Given the description of an element on the screen output the (x, y) to click on. 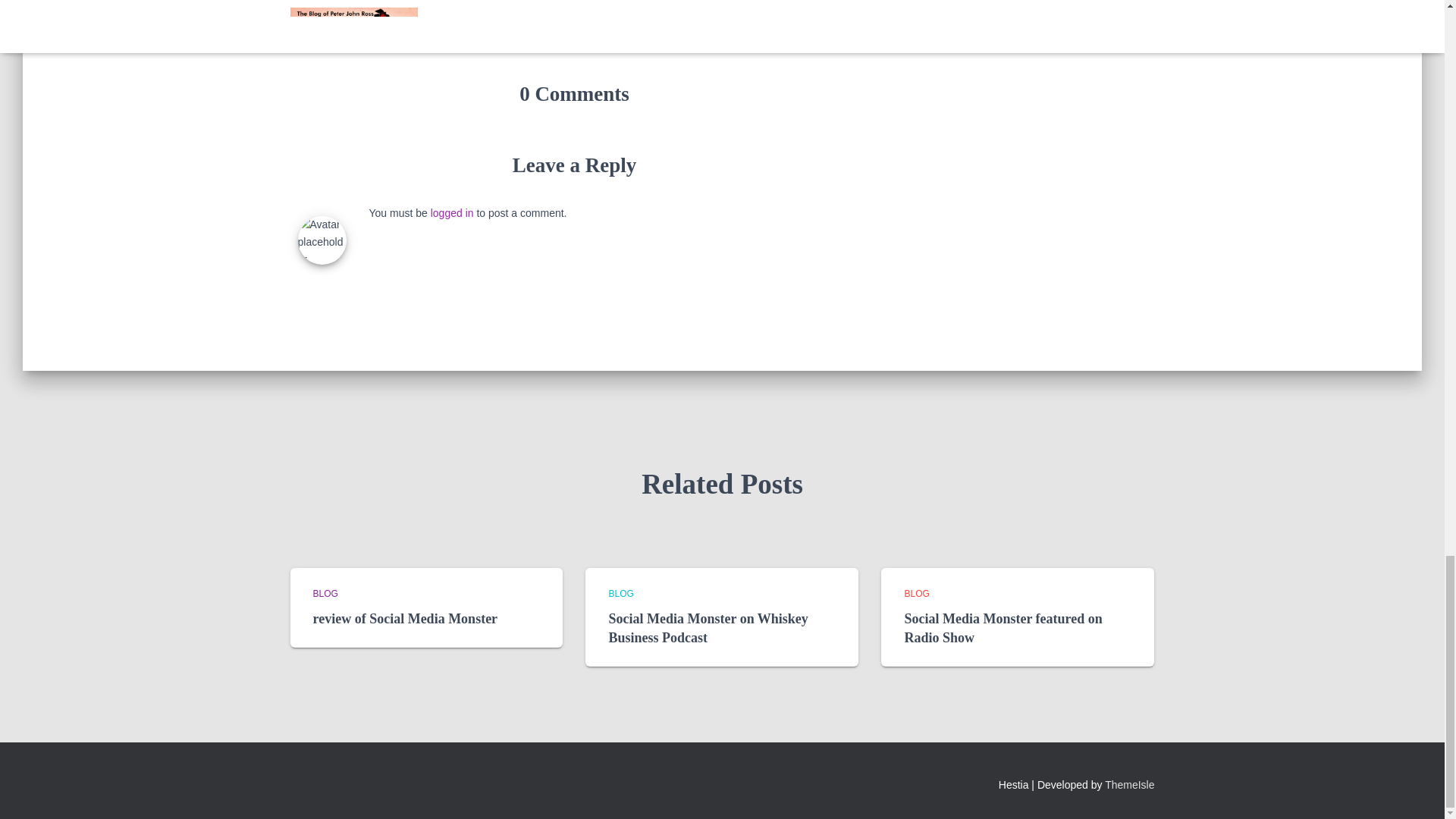
Social Media Monster on Whiskey Business Podcast (708, 627)
review of Social Media Monster (405, 618)
ThemeIsle (1129, 784)
View all posts in blog (325, 593)
View all posts in blog (916, 593)
logged in (452, 213)
BLOG (916, 593)
BLOG (620, 593)
View all posts in blog (620, 593)
Social Media Monster on Whiskey Business Podcast (708, 627)
